Given the description of an element on the screen output the (x, y) to click on. 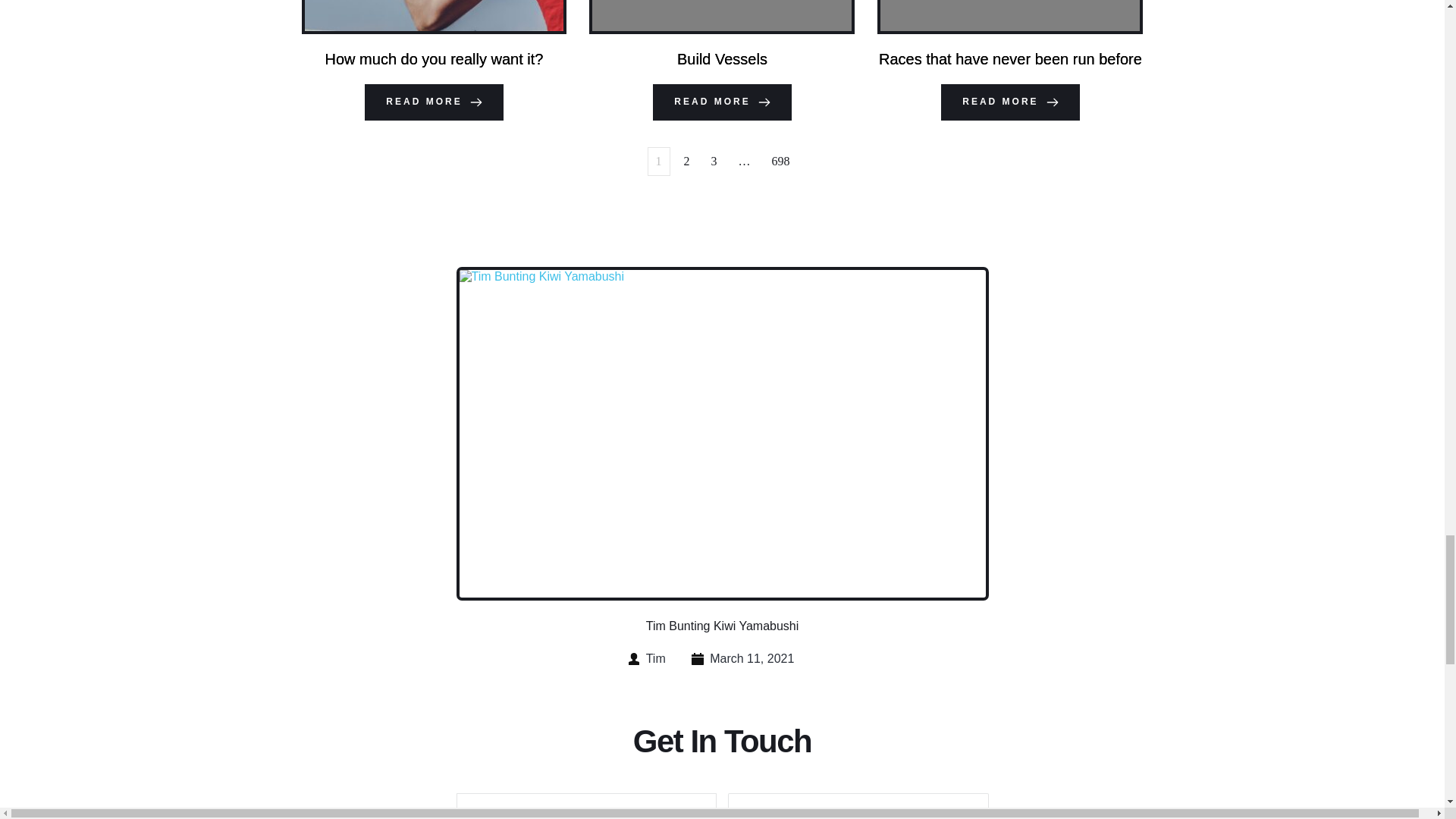
READ MORE (433, 102)
READ MORE (721, 102)
READ MORE (1009, 102)
